Given the description of an element on the screen output the (x, y) to click on. 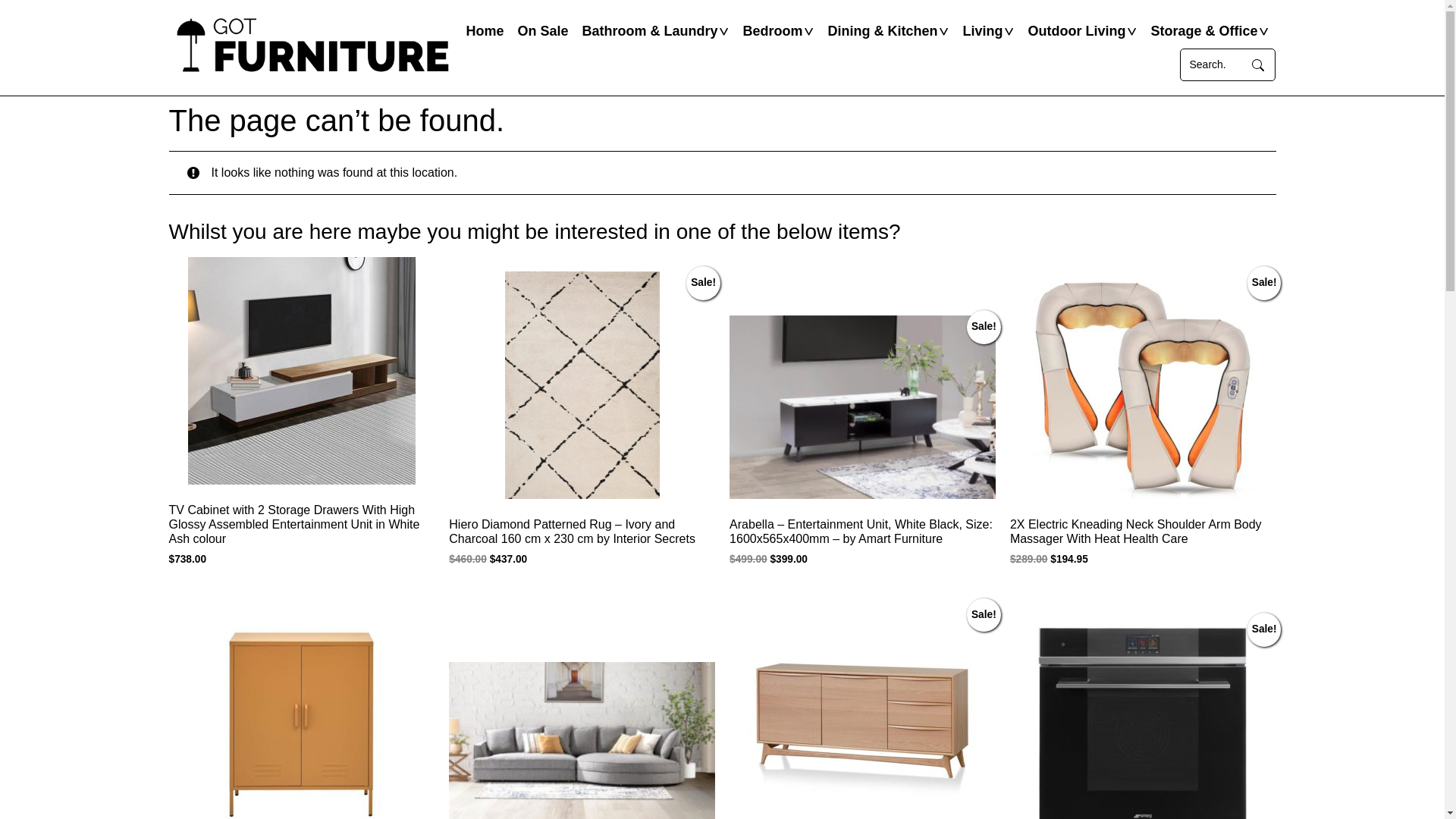
Search Element type: text (1257, 64)
Dining & Kitchen Element type: text (882, 31)
Outdoor Living Element type: text (1076, 31)
Bedroom Element type: text (772, 31)
Search Element type: hover (1212, 64)
Home Element type: text (484, 31)
Skip to content Element type: text (721, 0)
On Sale Element type: text (542, 31)
Living Element type: text (982, 31)
Helping You Make Your House a Home! Element type: hover (312, 47)
Storage & Office Element type: text (1203, 31)
Bathroom & Laundry Element type: text (649, 31)
